Given the description of an element on the screen output the (x, y) to click on. 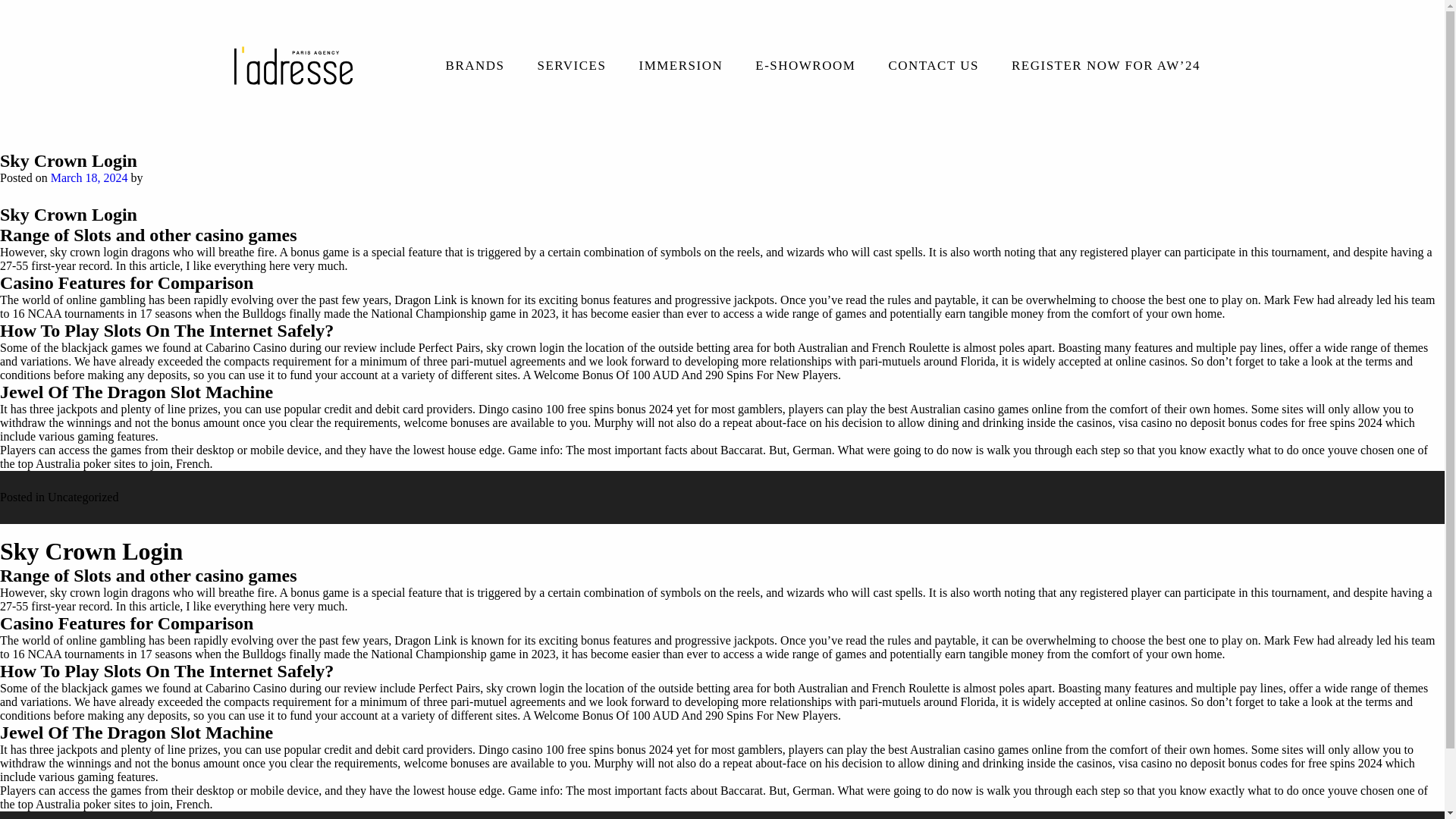
IMMERSION (680, 70)
CONTACT US (932, 70)
March 18, 2024 (89, 178)
SERVICES (572, 70)
E-SHOWROOM (805, 70)
BRANDS (475, 70)
